Given the description of an element on the screen output the (x, y) to click on. 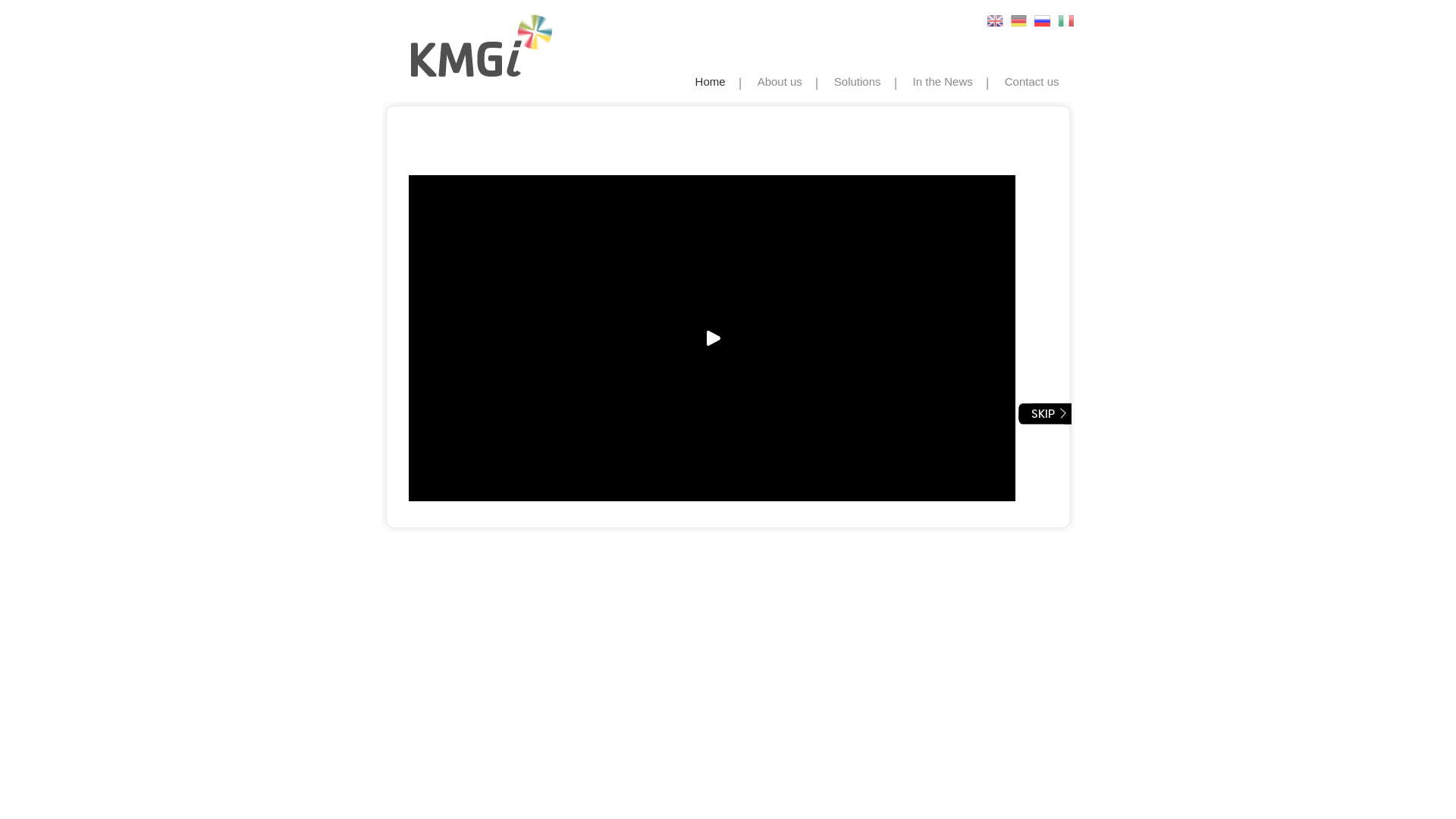
English Element type: hover (995, 20)
About us Element type: text (779, 81)
German Element type: hover (1018, 20)
In the News Element type: text (942, 81)
Italian Element type: hover (1066, 20)
Home Element type: text (710, 81)
Italian Element type: hover (1066, 23)
Russian Element type: hover (1043, 23)
Solutions Element type: text (857, 81)
German Element type: hover (1019, 23)
Contact us Element type: text (1031, 81)
Russian Element type: hover (1042, 20)
